Given the description of an element on the screen output the (x, y) to click on. 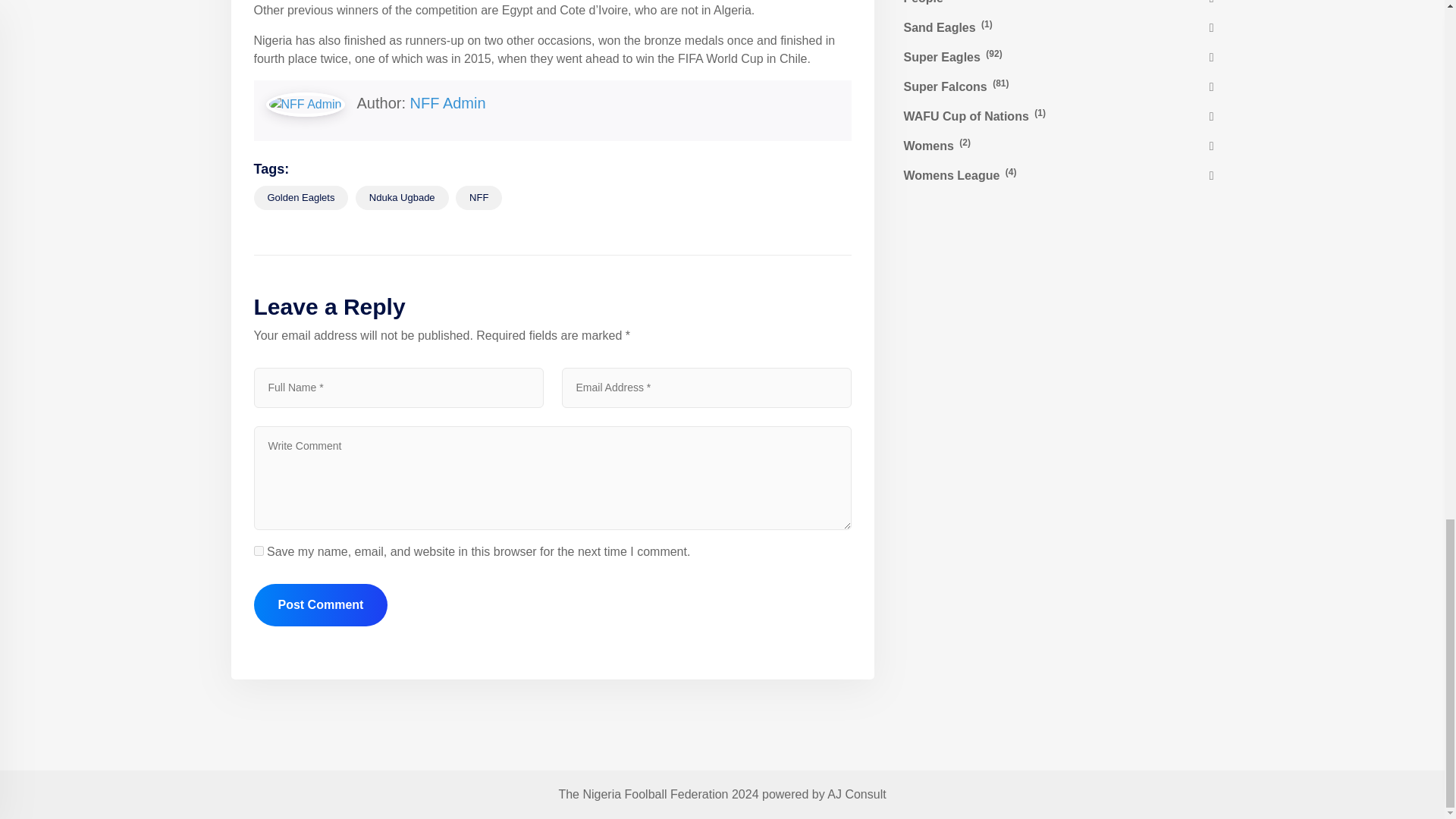
Post Comment (320, 604)
yes (258, 551)
